Given the description of an element on the screen output the (x, y) to click on. 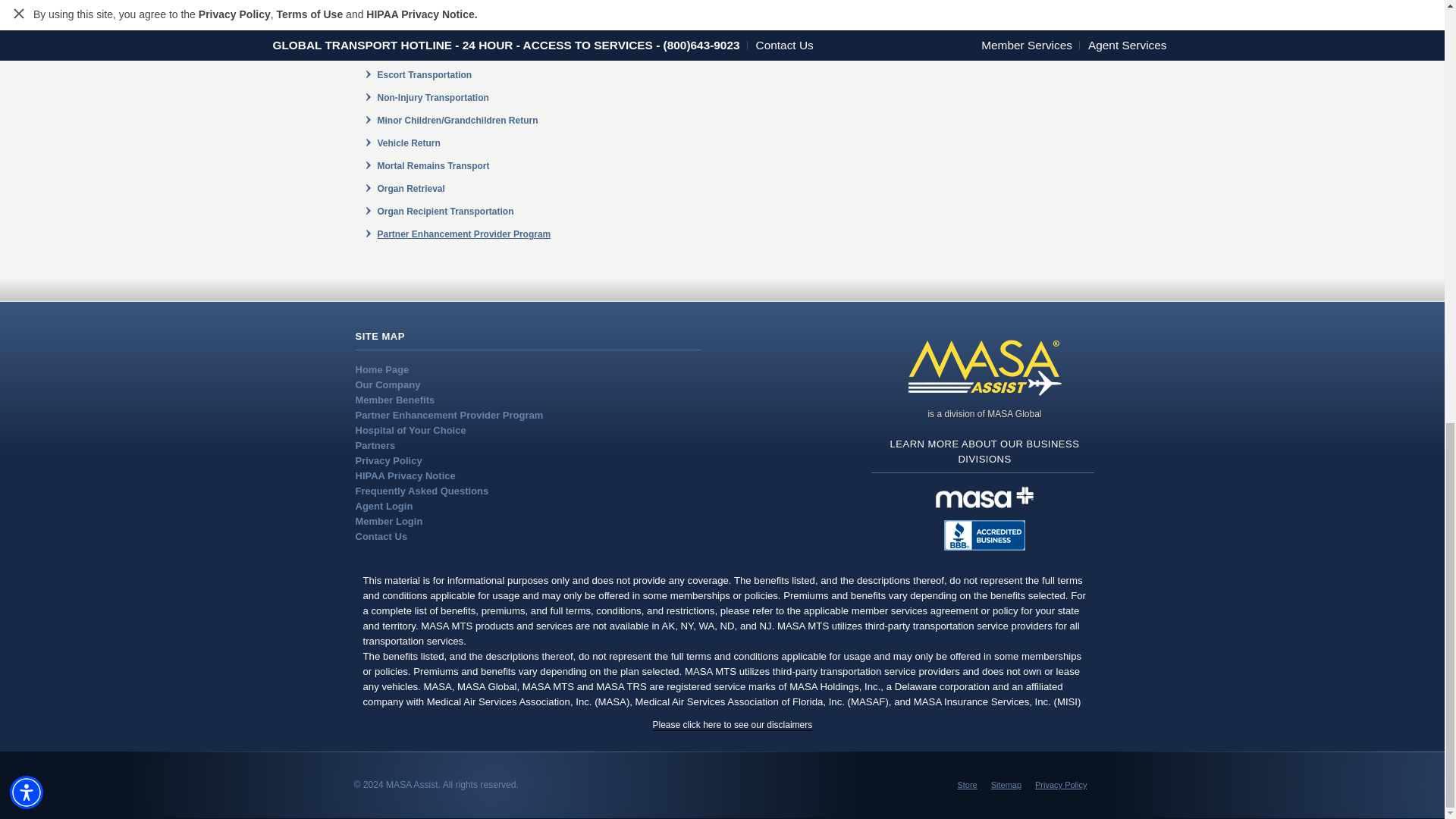
Store (966, 784)
Member Benefits (394, 399)
Home Page (382, 369)
Our Company (387, 384)
Agent Login (383, 505)
Member Login (388, 521)
Partners (374, 445)
HIPAA Privacy Notice (404, 475)
Partner Enhancement Provider Program (464, 234)
Contact Us (381, 536)
Please click here to see our disclaimers (732, 725)
Frequently Asked Questions (421, 490)
Hospital of Your Choice (410, 430)
Privacy Policy (388, 460)
Sitemap (1006, 784)
